Given the description of an element on the screen output the (x, y) to click on. 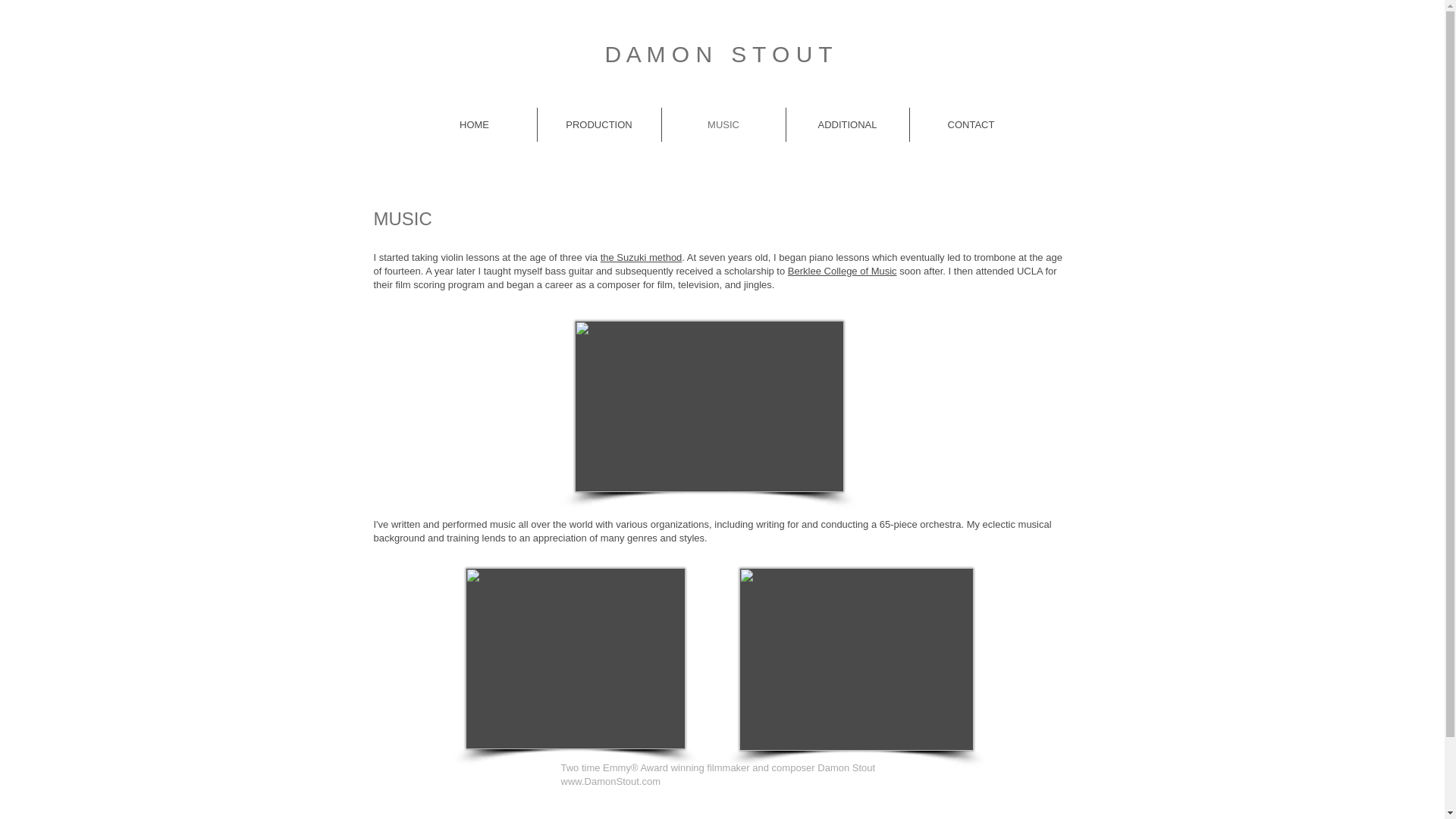
www.DamonStout.com (610, 781)
MUSIC (722, 124)
the Suzuki method (640, 256)
ADDITIONAL (847, 124)
PRODUCTION (599, 124)
HOME (474, 124)
CONTACT (971, 124)
Berklee College of Music (841, 270)
